Given the description of an element on the screen output the (x, y) to click on. 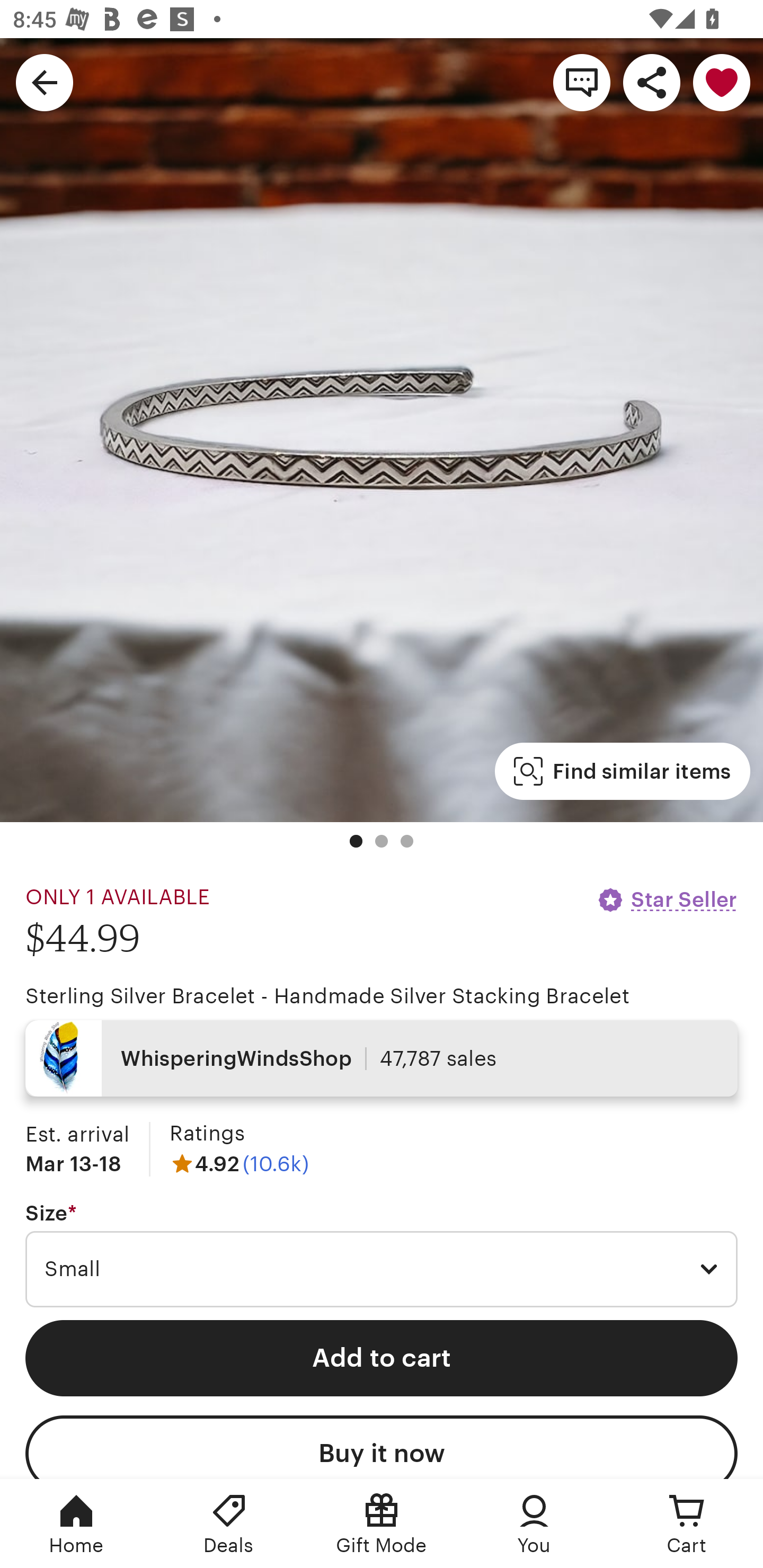
Navigate up (44, 81)
Contact shop (581, 81)
Share (651, 81)
Find similar items (622, 771)
Star Seller (666, 899)
WhisperingWindsShop 47,787 sales (381, 1058)
Ratings (206, 1133)
4.92 (10.6k) (239, 1163)
Size * Required Small (381, 1254)
Small (381, 1268)
Add to cart (381, 1358)
Buy it now (381, 1446)
Deals (228, 1523)
Gift Mode (381, 1523)
You (533, 1523)
Cart (686, 1523)
